Given the description of an element on the screen output the (x, y) to click on. 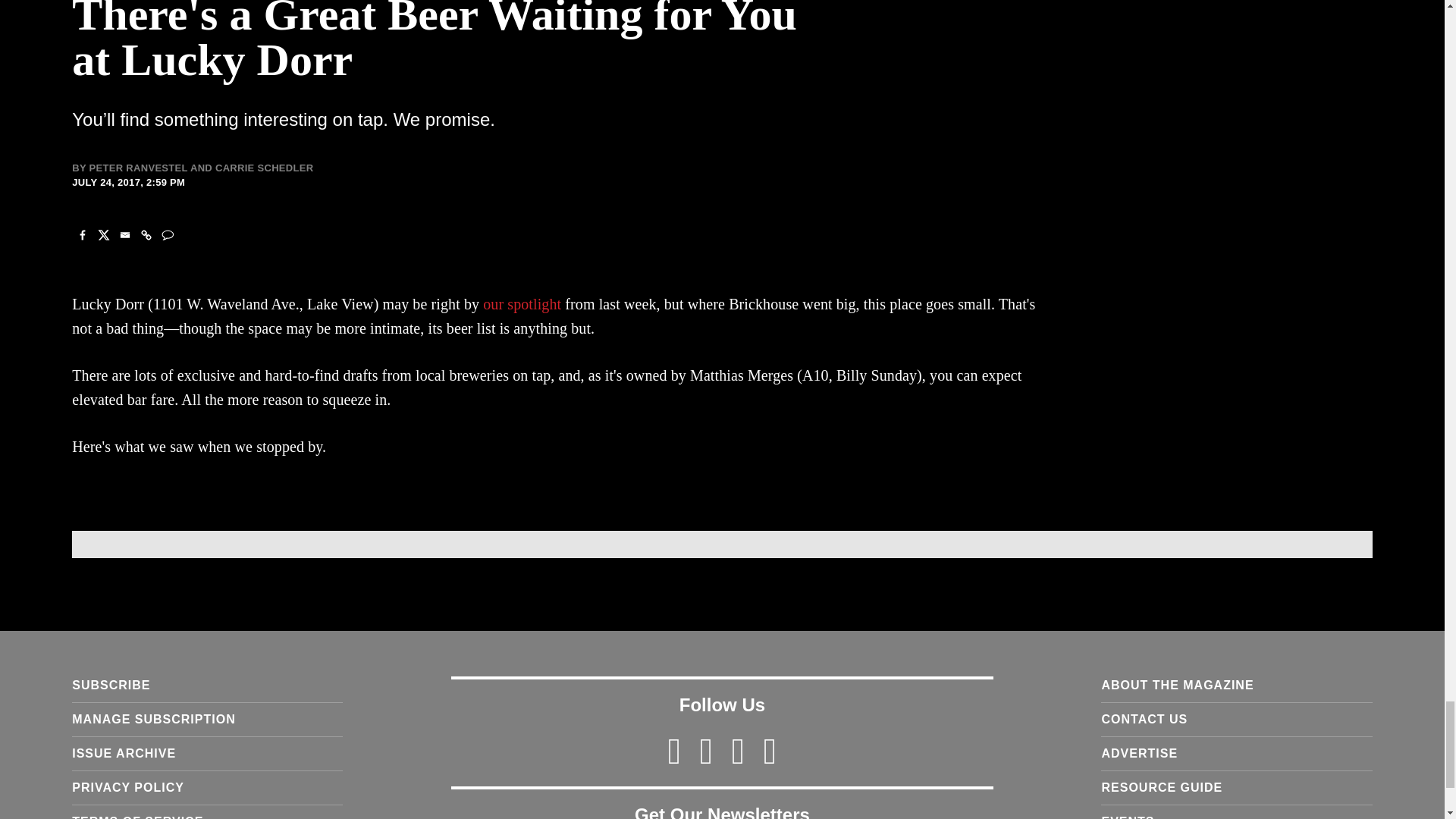
Email (124, 235)
comment (167, 235)
Copy Link (145, 235)
X (103, 235)
Facebook (82, 235)
